Given the description of an element on the screen output the (x, y) to click on. 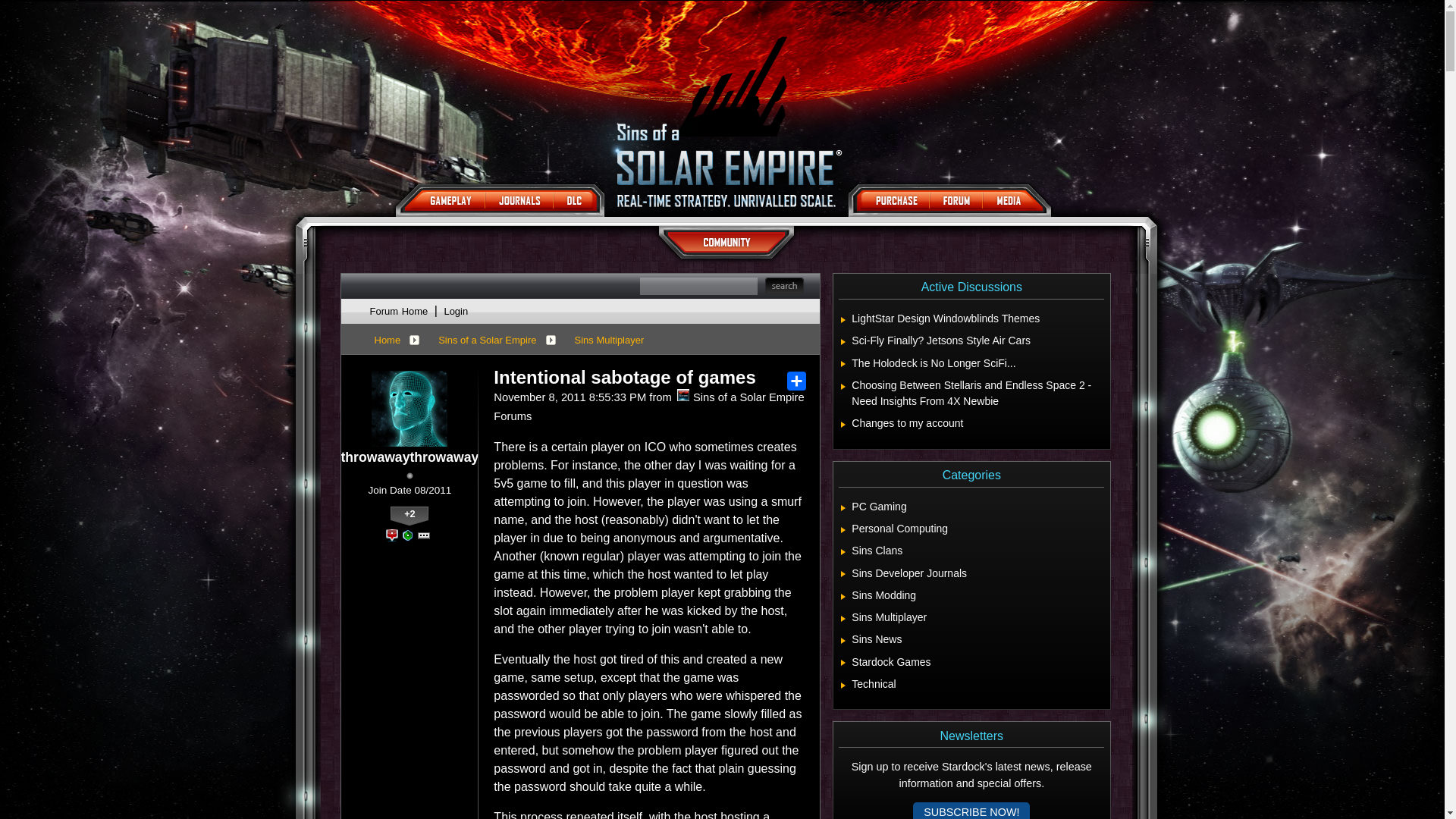
Intentional sabotage of games (624, 377)
View all awards (423, 535)
View throwawaythrowaway's Karma (409, 516)
Sins of a Solar Empire Forums (682, 395)
Click user name to view more options. (409, 457)
Novice Poster - Created 5 Posts (407, 535)
Received 100 clicks from shared links to a single post (391, 535)
Rank: 1 (409, 475)
